Given the description of an element on the screen output the (x, y) to click on. 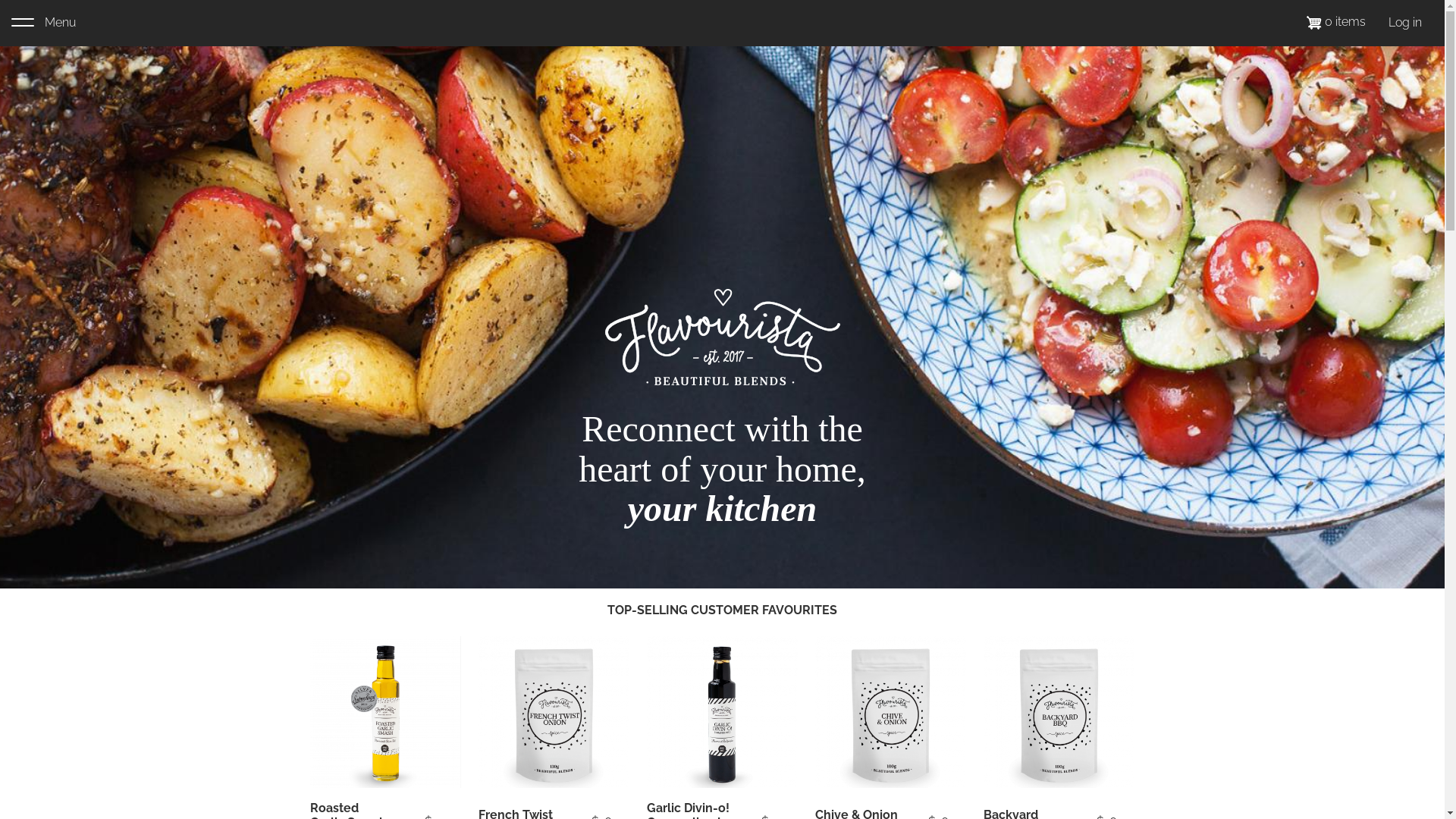
Log in Element type: text (1405, 22)
Skip to main content Element type: text (0, 0)
0 items Element type: text (1335, 21)
Menu Element type: text (43, 22)
